Given the description of an element on the screen output the (x, y) to click on. 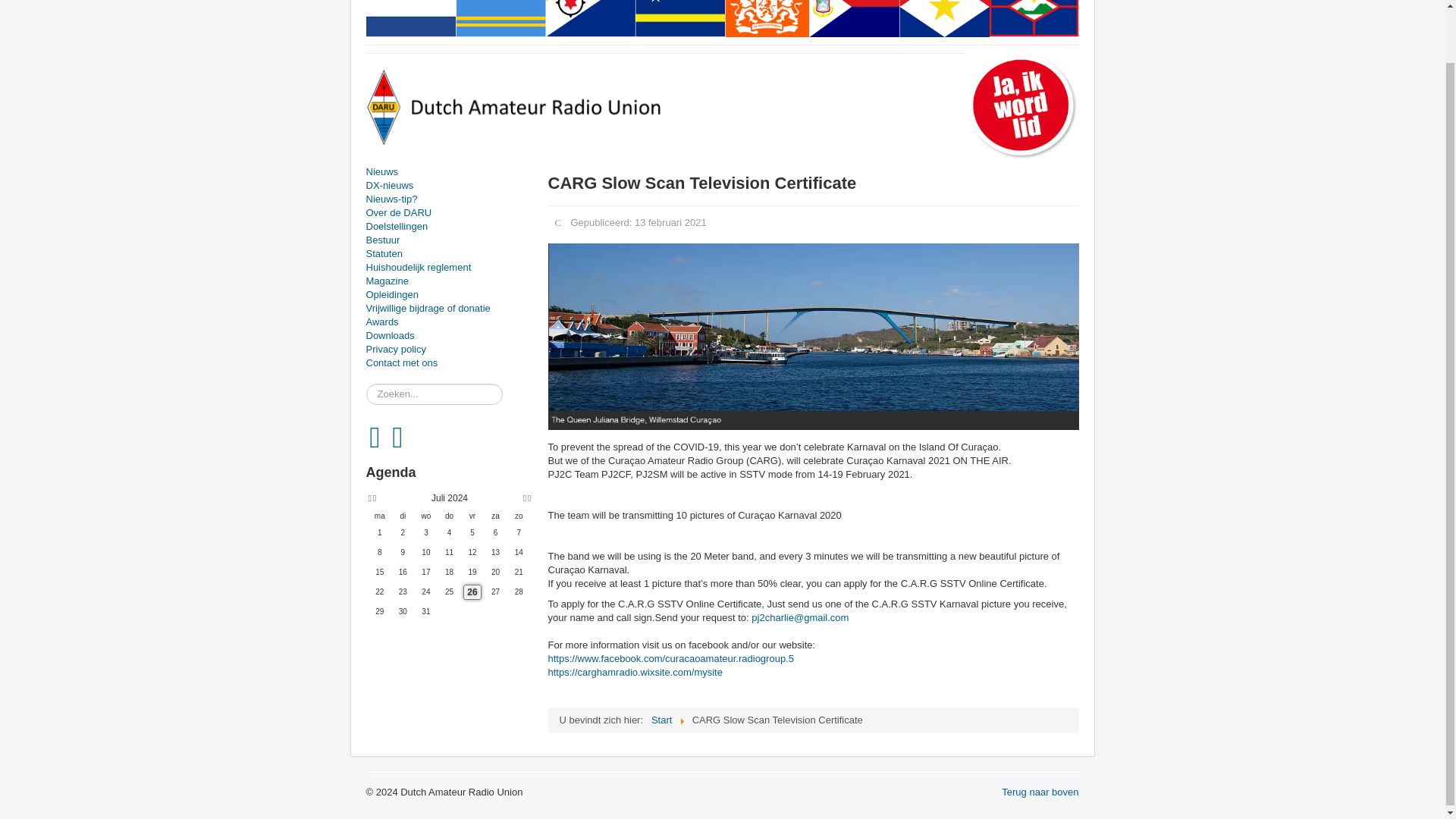
Bestuur (448, 240)
Downloads (448, 336)
Over de DARU (448, 213)
Start (660, 719)
Statuten (448, 254)
Doelstellingen (448, 226)
Contact met ons (448, 363)
Magazine (448, 281)
Nieuws (448, 172)
Terug naar boven (1039, 791)
Nieuws-tip? (448, 199)
Opleidingen (448, 295)
Vrijwillige bijdrage of donatie (448, 308)
Awards (448, 322)
DX-nieuws (448, 185)
